Given the description of an element on the screen output the (x, y) to click on. 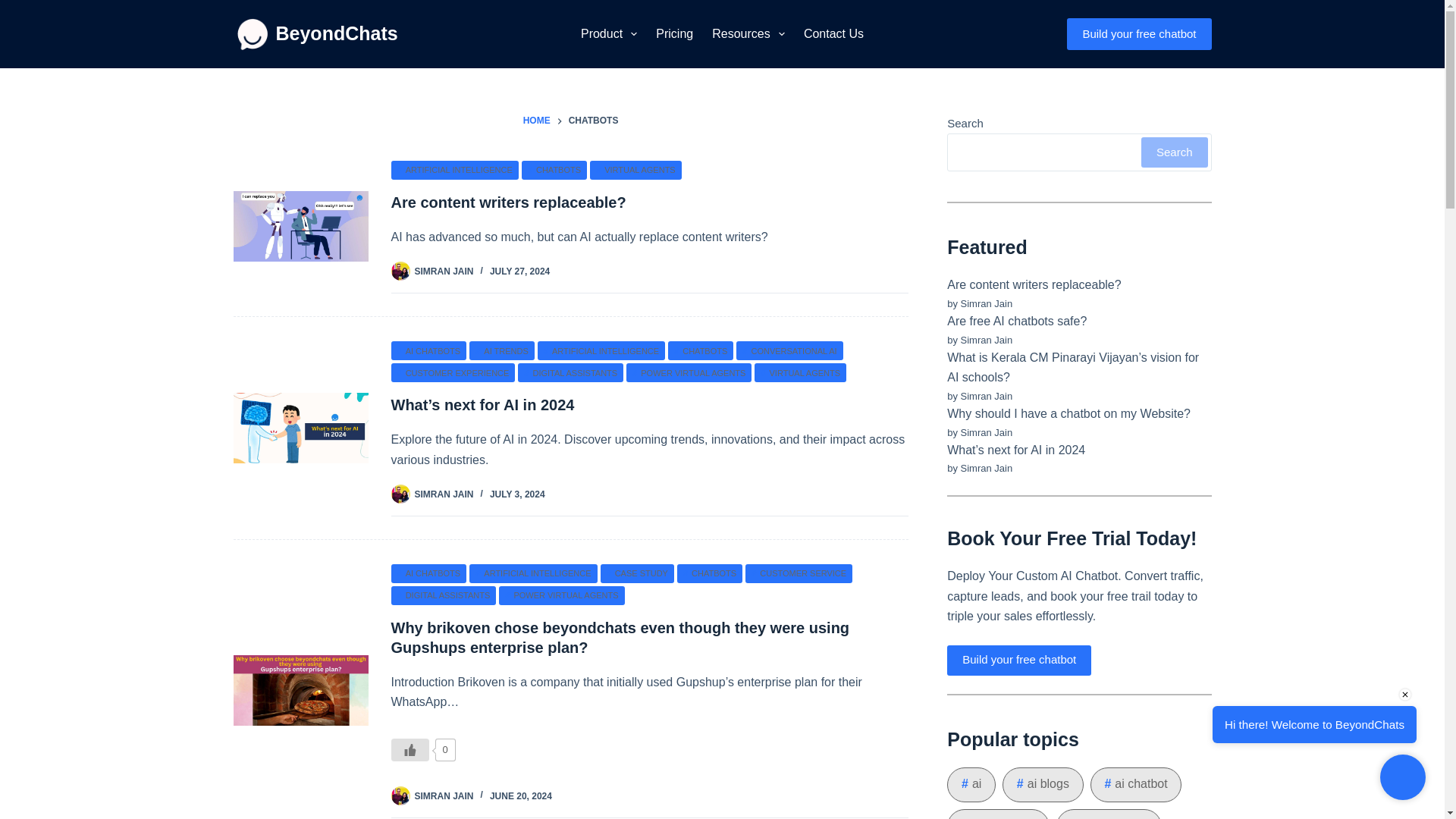
Build your free chatbot (1139, 33)
Contact Us (832, 33)
Resources (748, 33)
Posts by Simran Jain (444, 795)
Are content writers replaceable? 1 (300, 225)
Posts by Simran Jain (444, 271)
CHATBOTS (553, 169)
ARTIFICIAL INTELLIGENCE (454, 169)
SIMRAN JAIN (444, 271)
Product (608, 33)
HOME (536, 120)
BeyondChats (336, 33)
VIRTUAL AGENTS (635, 169)
Are content writers replaceable? (508, 202)
Posts by Simran Jain (444, 493)
